Given the description of an element on the screen output the (x, y) to click on. 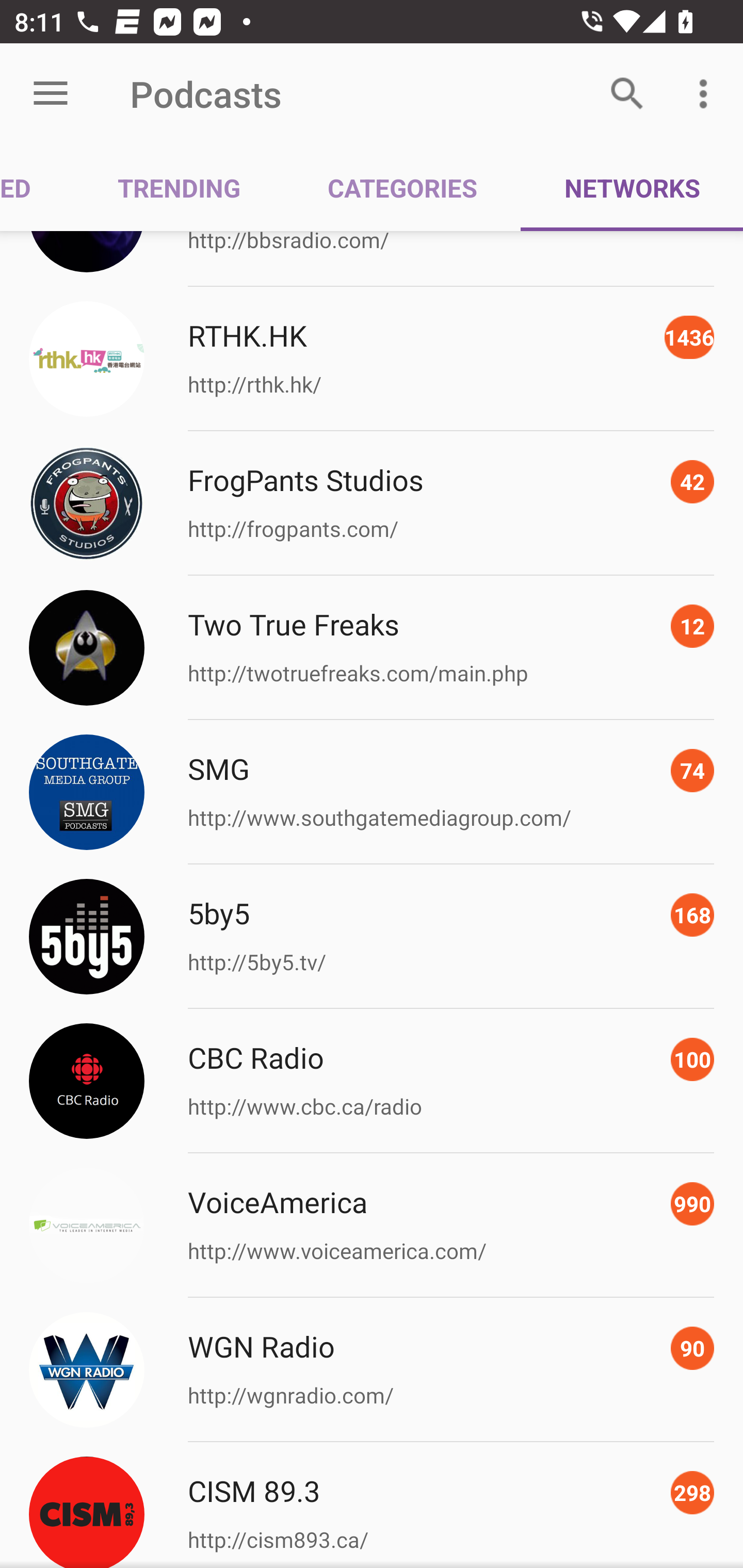
Open menu (50, 93)
Search (626, 93)
More options (706, 93)
TRENDING (178, 187)
CATEGORIES (401, 187)
NETWORKS (631, 187)
Picture RTHK.HK 1436 http://rthk.hk/ (371, 358)
Picture FrogPants Studios 42 http://frogpants.com/ (371, 503)
Picture SMG 74 http://www.southgatemediagroup.com/ (371, 791)
Picture 5by5 168 http://5by5.tv/ (371, 935)
Picture CBC Radio 100 http://www.cbc.ca/radio (371, 1081)
Picture WGN Radio 90 http://wgnradio.com/ (371, 1370)
Picture CISM 89.3 298 http://cism893.ca/ (371, 1505)
